Given the description of an element on the screen output the (x, y) to click on. 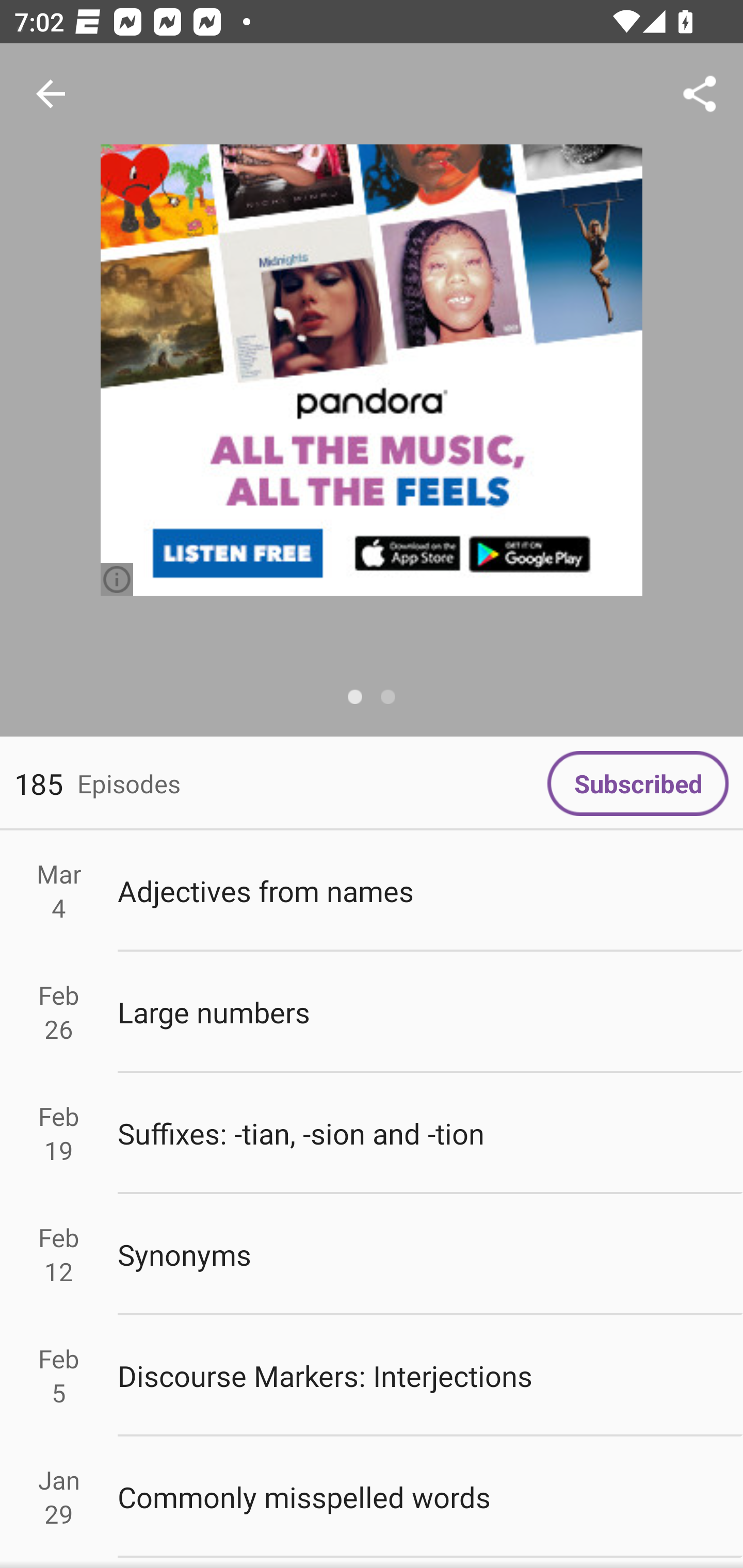
Navigate up (50, 93)
Share... (699, 93)
Subscribed (637, 783)
Mar 4 Adjectives from names (371, 891)
Feb 26 Large numbers (371, 1011)
Feb 19 Suffixes: -tian, -sion and -tion (371, 1133)
Feb 12 Synonyms (371, 1254)
Feb 5 Discourse Markers: Interjections (371, 1375)
Jan 29 Commonly misspelled words (371, 1496)
